Given the description of an element on the screen output the (x, y) to click on. 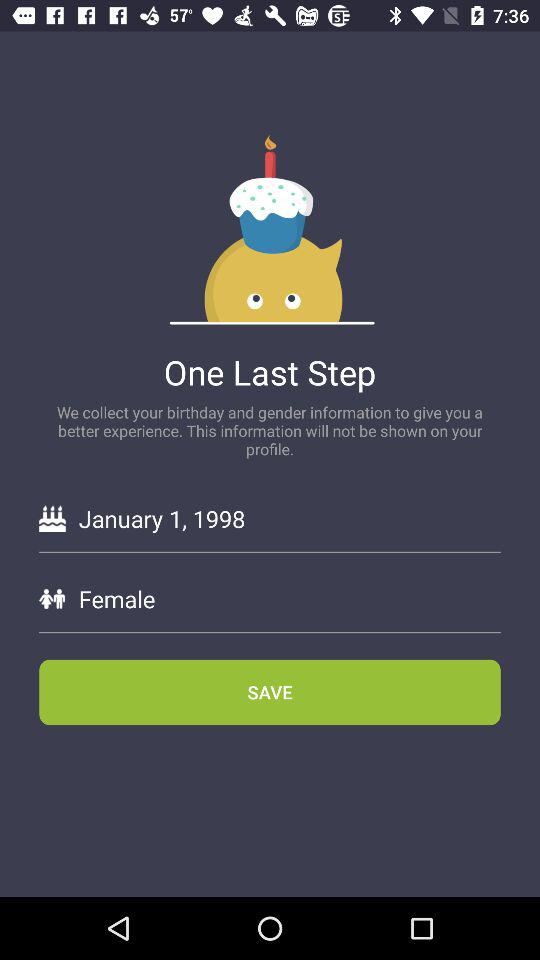
jump to the save item (269, 692)
